Given the description of an element on the screen output the (x, y) to click on. 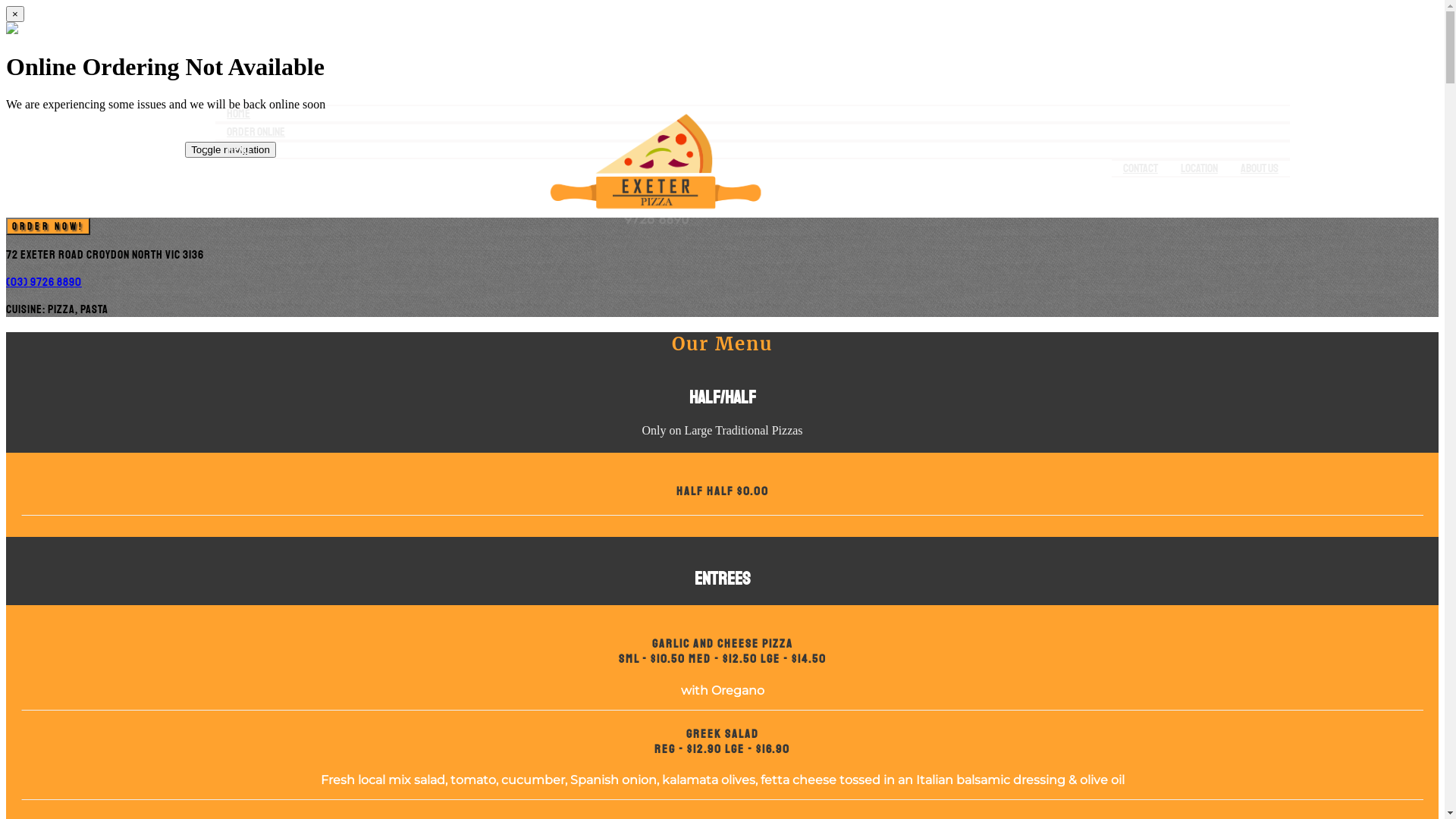
About Us Element type: text (1259, 167)
Order Now! Element type: text (48, 226)
Order Now! Element type: text (48, 225)
Location Element type: text (1198, 167)
Toggle navigation Element type: text (230, 149)
Home Element type: text (238, 113)
Menu Element type: text (237, 149)
Order Online Element type: text (255, 131)
Contact Element type: text (1140, 167)
(03) 9726 8890 Element type: text (43, 281)
